Given the description of an element on the screen output the (x, y) to click on. 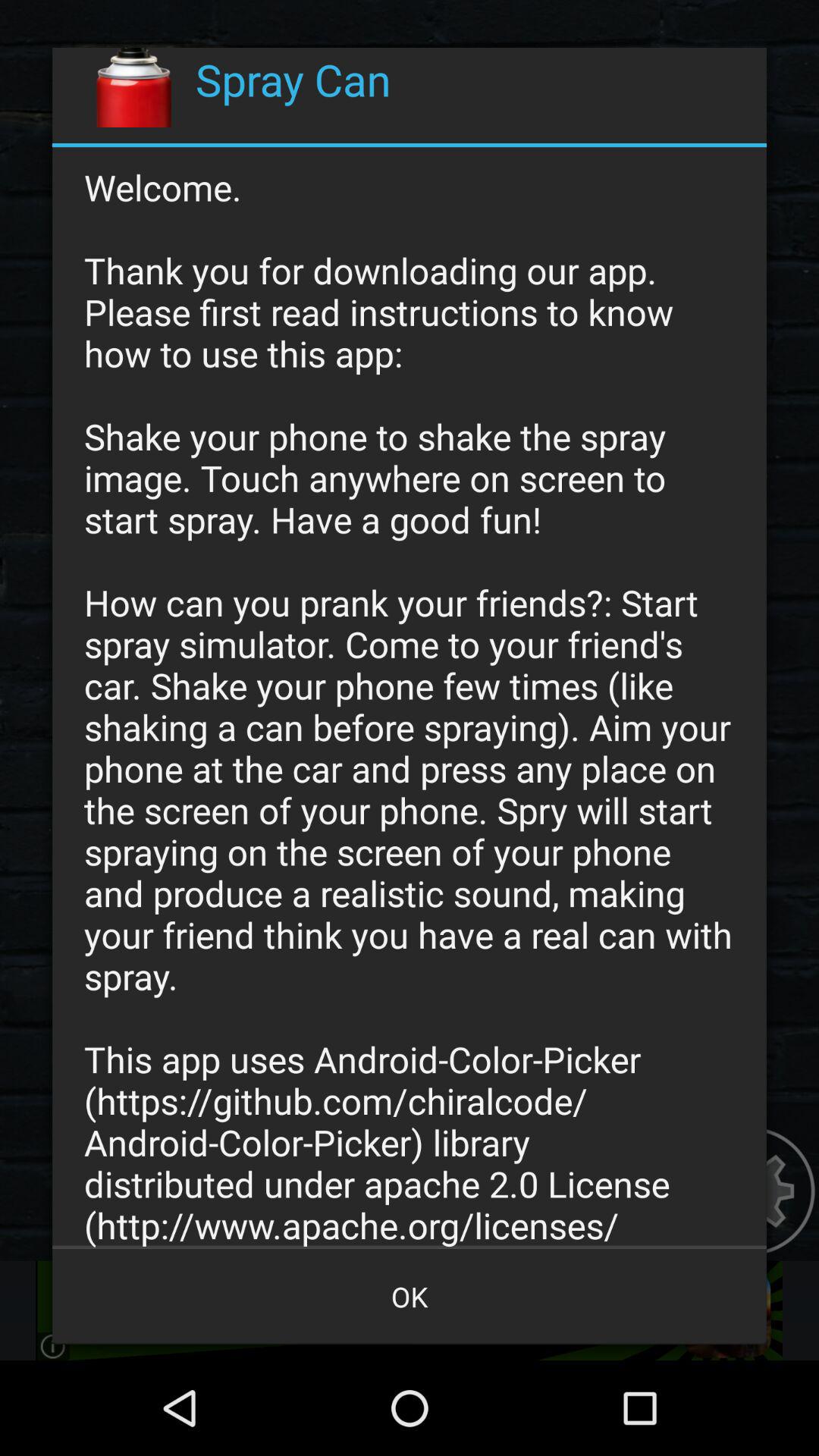
turn off ok item (409, 1296)
